Given the description of an element on the screen output the (x, y) to click on. 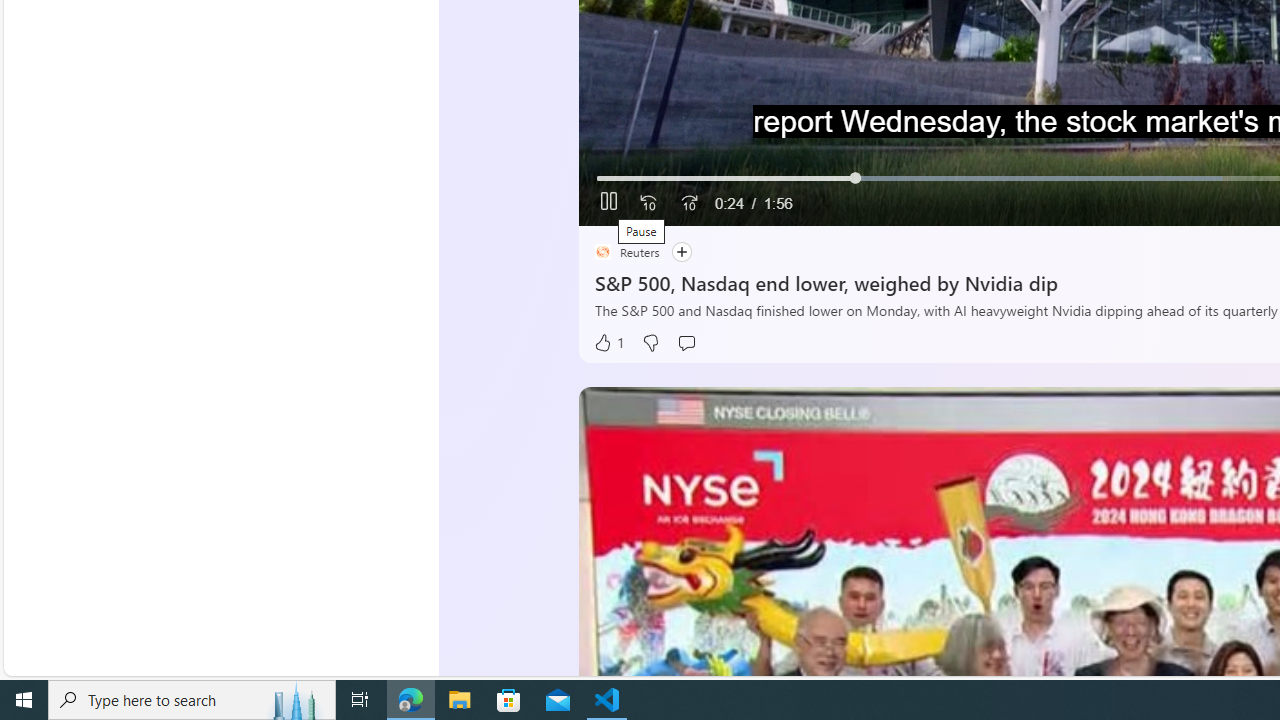
placeholder (601, 252)
Seek Back (648, 203)
placeholder Reuters (626, 252)
Seek Forward (688, 203)
1 Like (608, 343)
Pause (607, 203)
Follow (680, 251)
To get missing image descriptions, open the context menu. (648, 202)
